Given the description of an element on the screen output the (x, y) to click on. 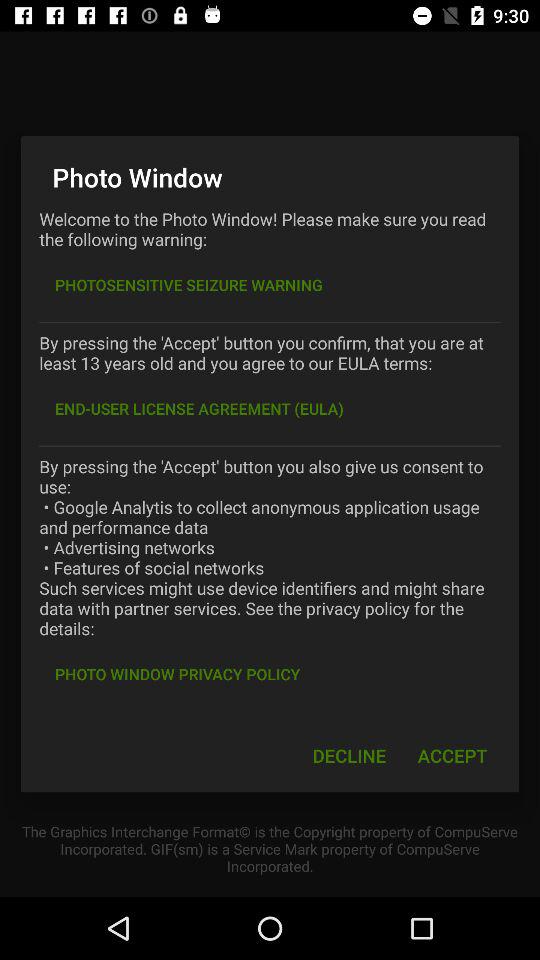
open the photosensitive seizure warning item (188, 284)
